Given the description of an element on the screen output the (x, y) to click on. 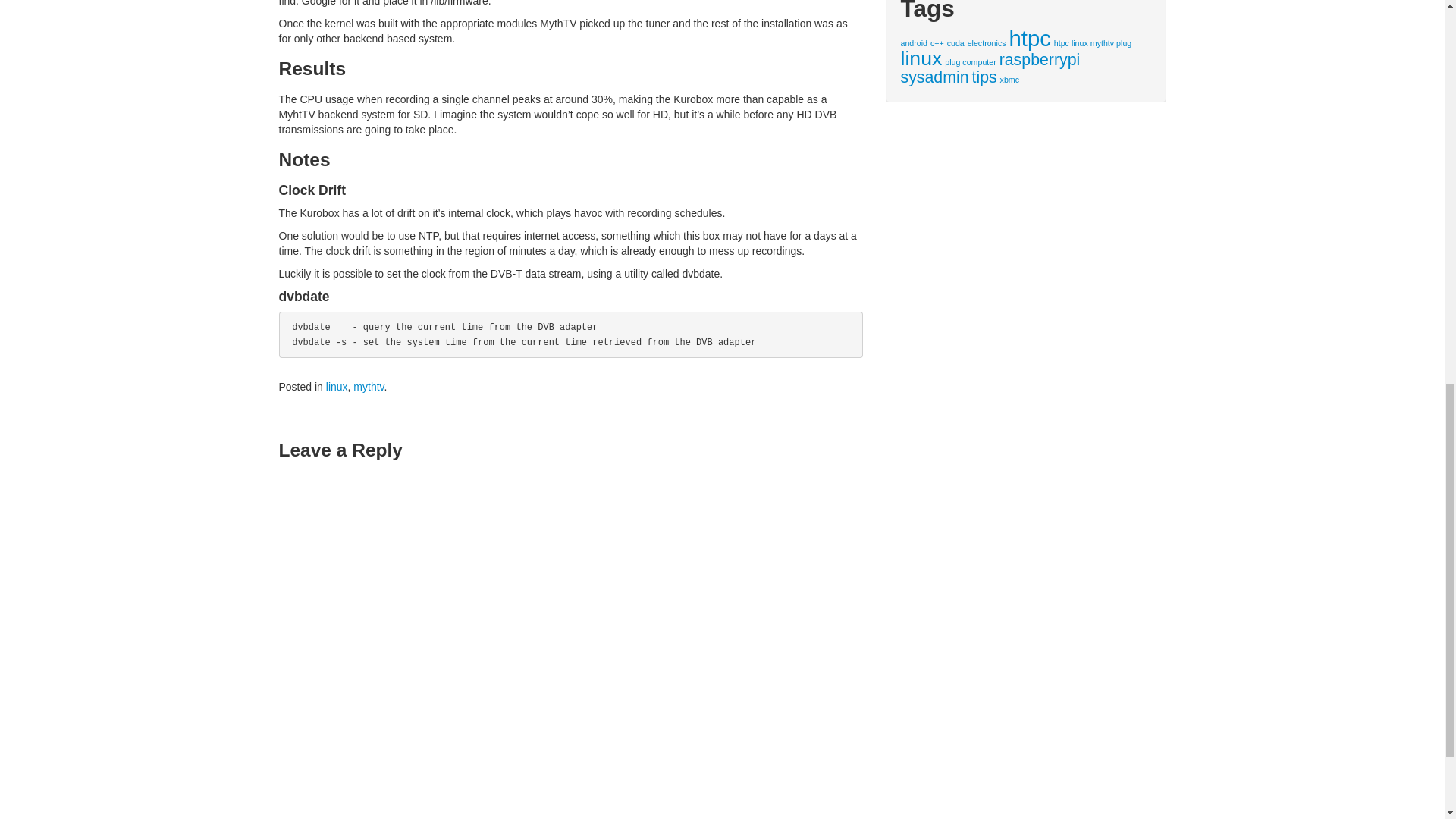
android (914, 42)
linux (336, 386)
mythtv (368, 386)
